Given the description of an element on the screen output the (x, y) to click on. 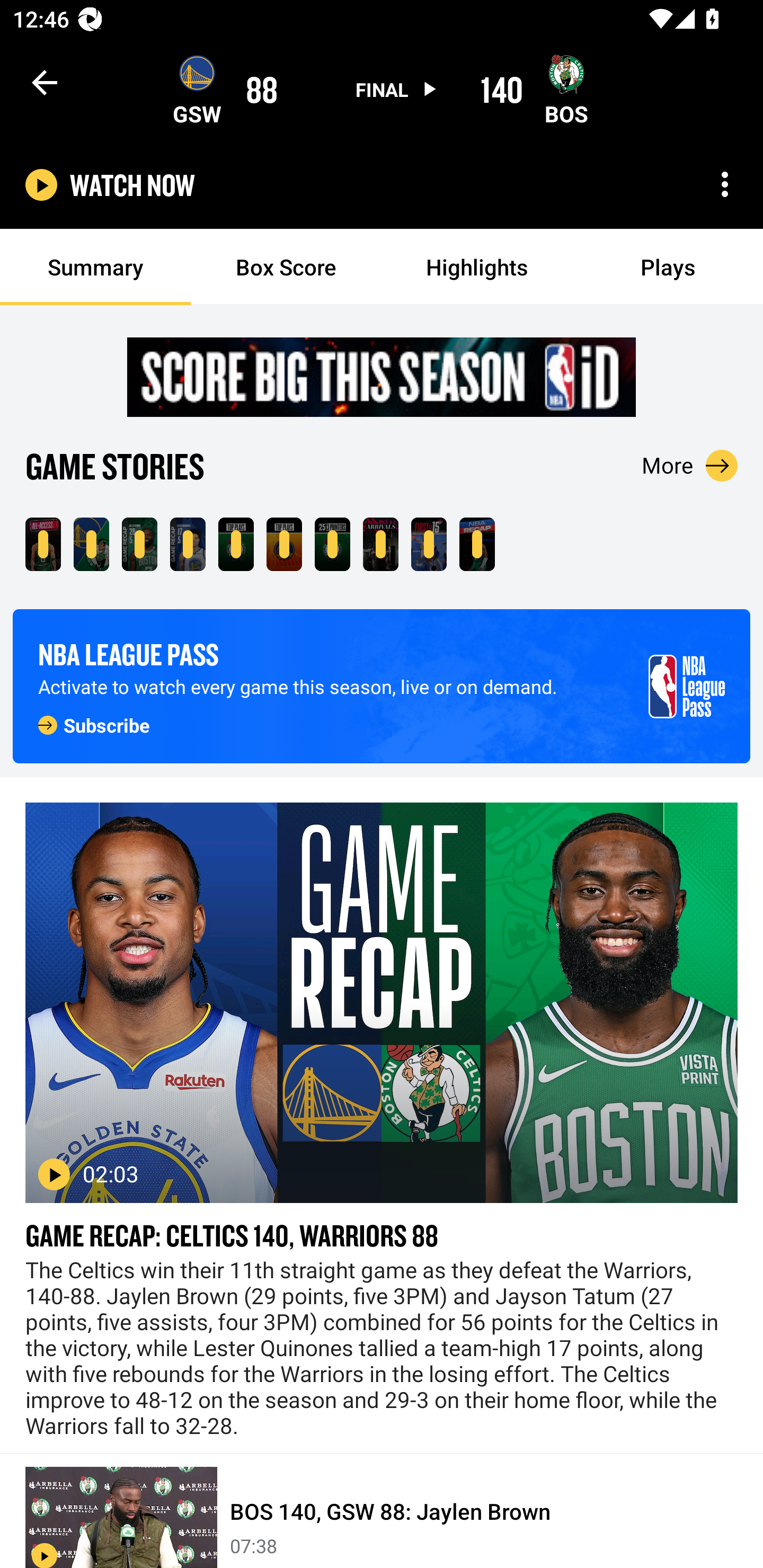
Navigate up (44, 82)
More options (724, 183)
WATCH NOW (132, 184)
Box Score (285, 266)
Highlights (476, 266)
Plays (667, 266)
More (689, 465)
Warriors And Celtics Clash At TD Garden 🍀 NEW (43, 543)
BOS 140, GSW 88 - Mar 3 NEW (91, 543)
Highlights From Jaylen Brown's 29-Point Game NEW (139, 543)
Highlights From Lester Quinones' 17-Point Game NEW (187, 543)
BOS' Top Plays from GSW vs. BOS NEW (236, 543)
GSW's Top Plays from GSW vs. BOS NEW (284, 543)
All 3-pointers from BOS' 25 3-pointer Night NEW (332, 543)
Steppin' Into Sunday 🔥 NEW (380, 543)
First To 15, Mar. 3rd NEW (428, 543)
Sunday's Recap NEW (477, 543)
BOS 140, GSW 88: Jaylen Brown 07:38 (381, 1510)
